Given the description of an element on the screen output the (x, y) to click on. 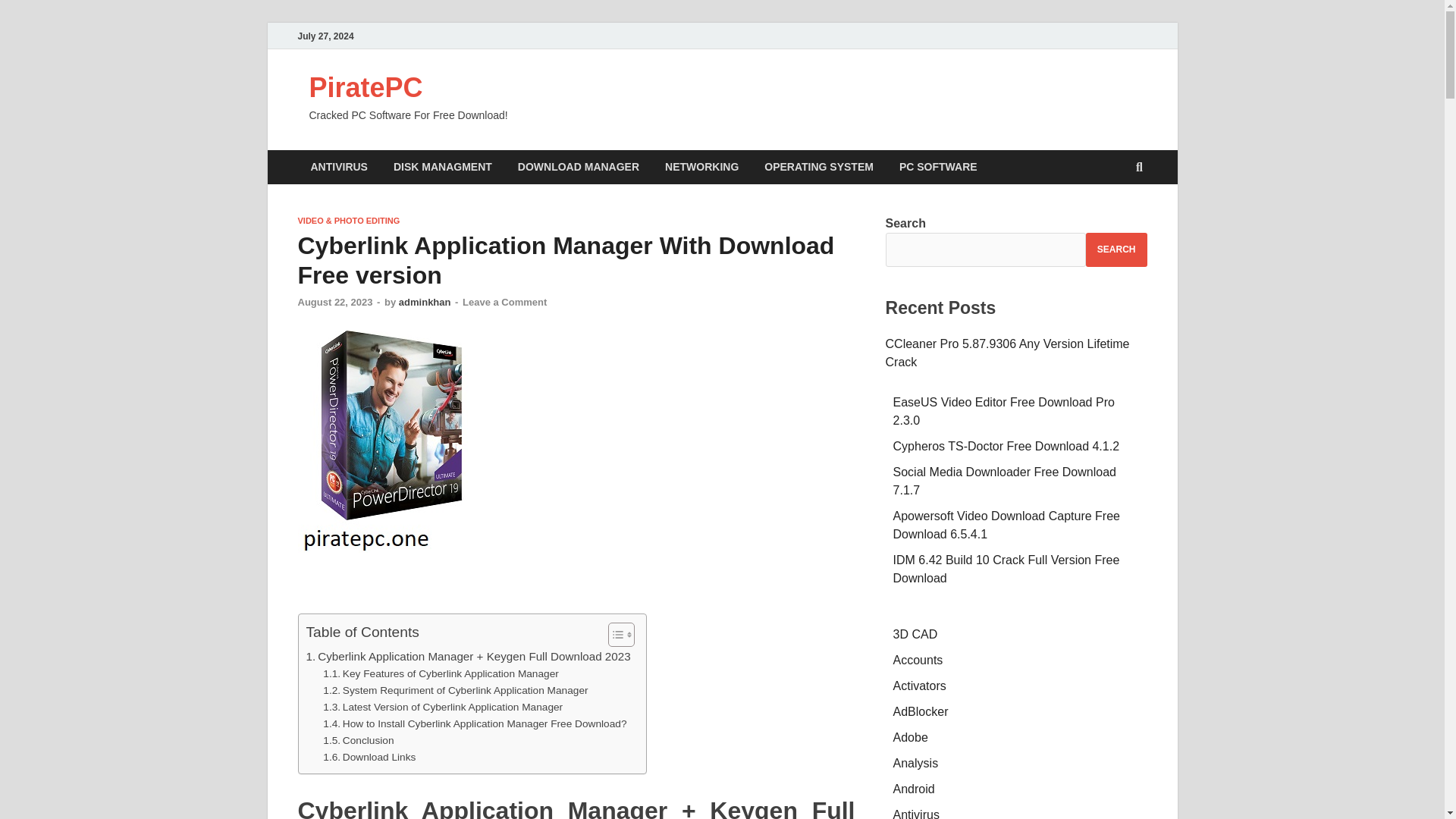
Conclusion (358, 740)
How to Install Cyberlink Application Manager Free Download? (474, 723)
How to Install Cyberlink Application Manager Free Download? (474, 723)
August 22, 2023 (334, 301)
Download Links (368, 757)
DISK MANAGMENT (442, 166)
System Requriment of Cyberlink Application Manager (455, 690)
Download Links (368, 757)
ANTIVIRUS (338, 166)
Key Features of Cyberlink Application Manager (441, 673)
NETWORKING (701, 166)
System Requriment of Cyberlink Application Manager (455, 690)
OPERATING SYSTEM (818, 166)
Leave a Comment (505, 301)
PiratePC (365, 87)
